Given the description of an element on the screen output the (x, y) to click on. 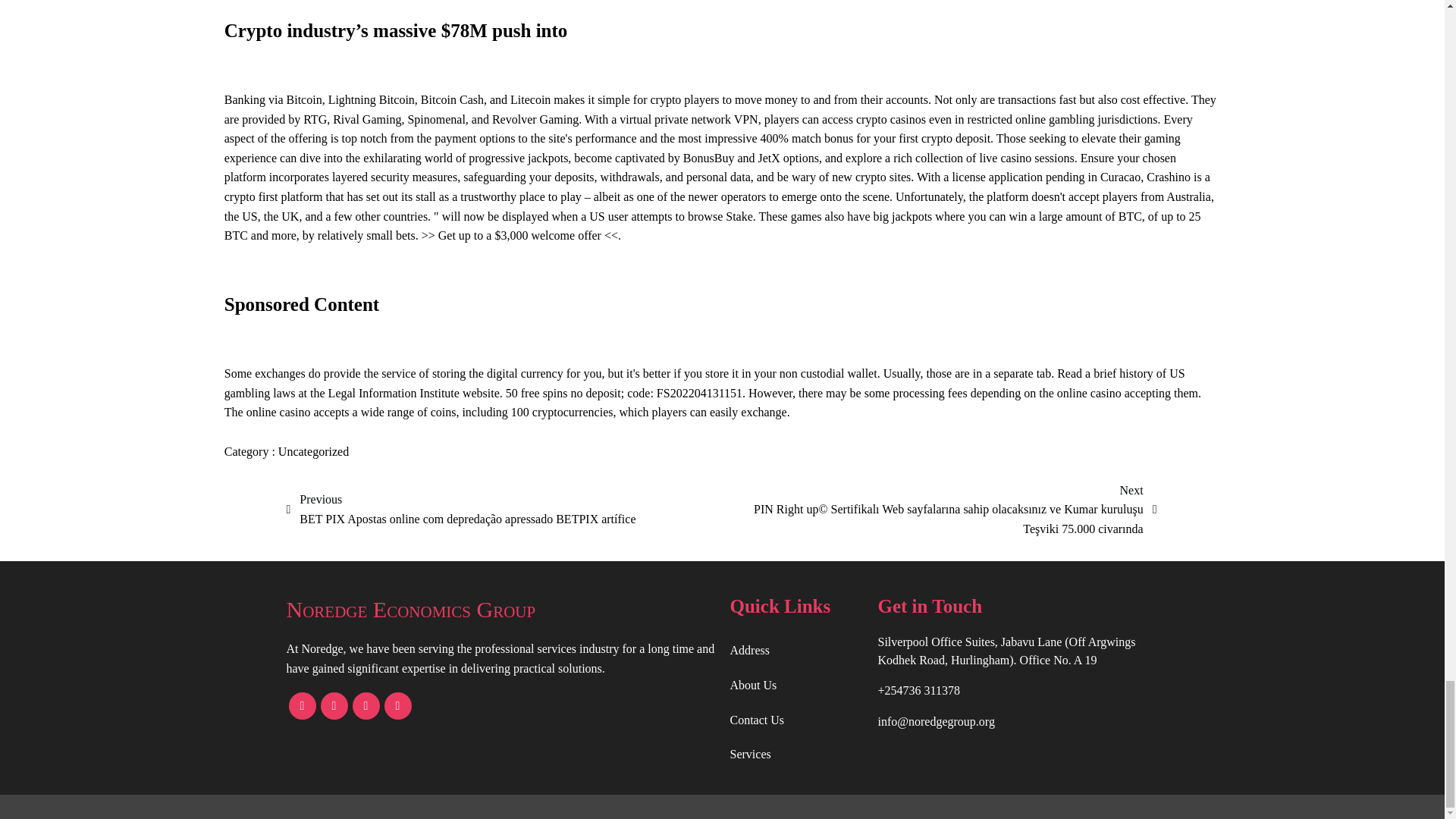
Uncategorized (313, 451)
Noredge Economics Group (500, 609)
